Given the description of an element on the screen output the (x, y) to click on. 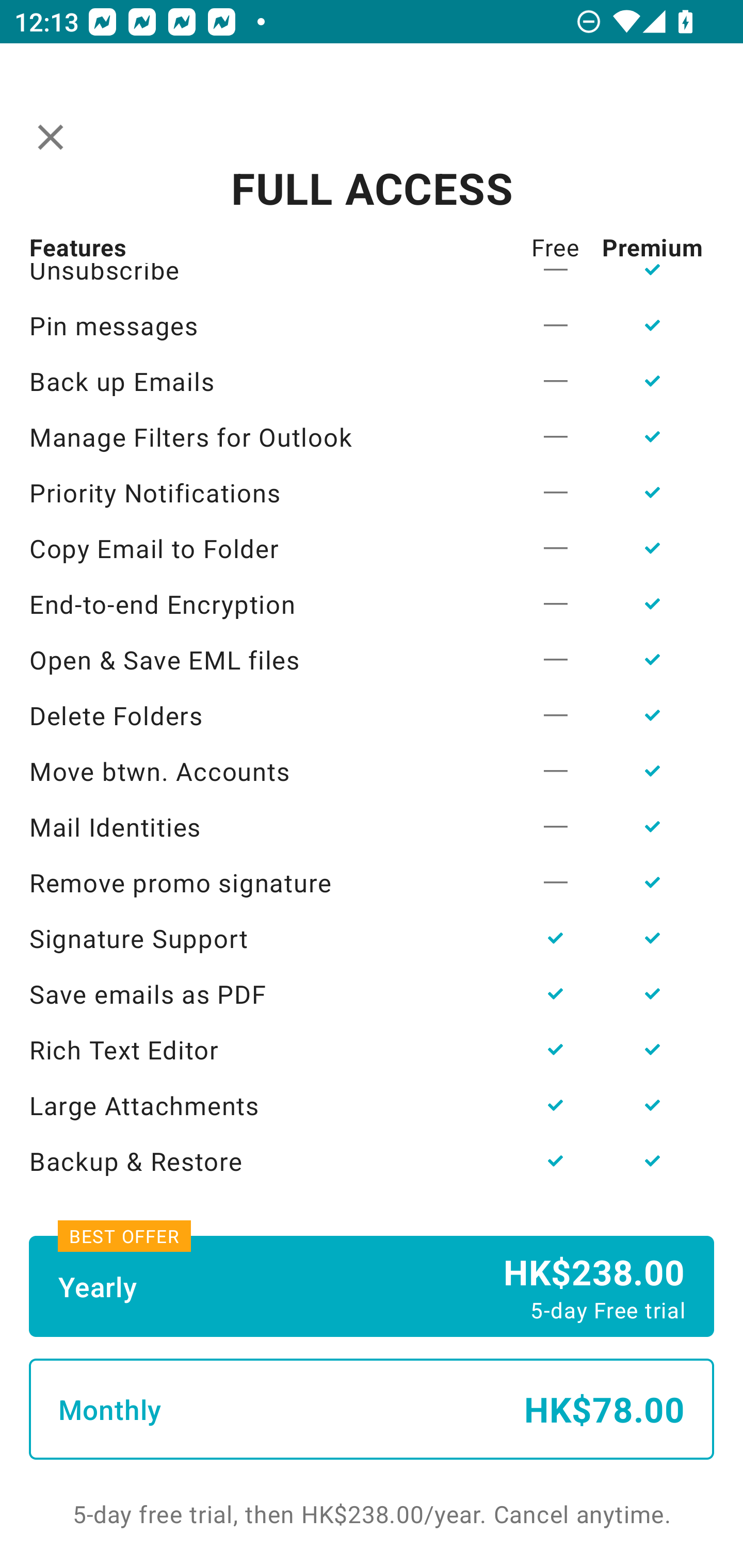
Yearly HK$238.00 5-day Free trial (371, 1286)
Monthly HK$78.00 (371, 1408)
